Given the description of an element on the screen output the (x, y) to click on. 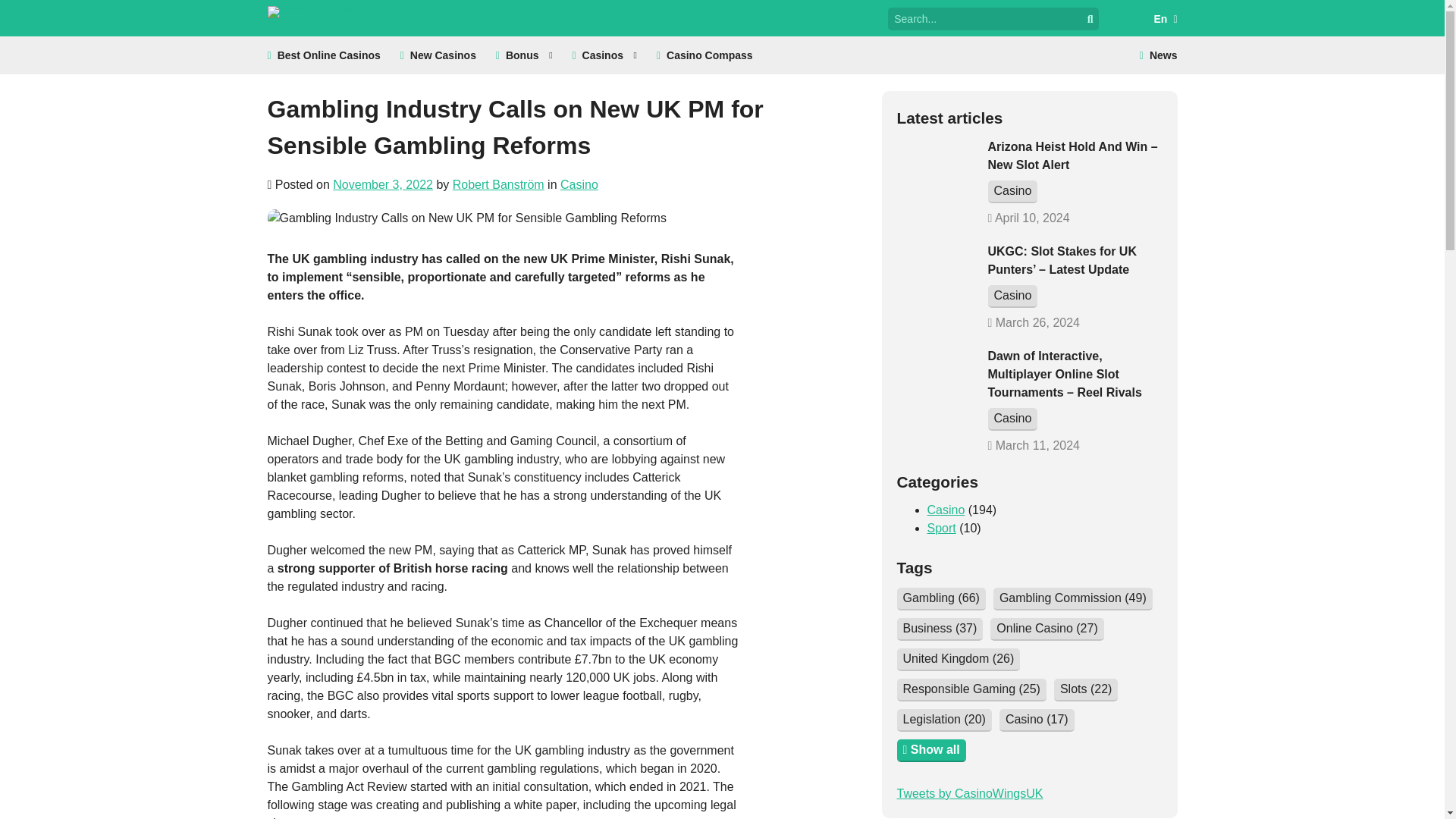
Online Casino Tag (1046, 629)
Gambling Tag (940, 599)
Slots Tag (1086, 689)
Bonus (524, 55)
News (1158, 55)
En (1148, 18)
Best Online Casinos (323, 55)
Responsible Gaming Tag (970, 689)
Casinos (604, 55)
Gambling Commission Tag (1072, 599)
